Given the description of an element on the screen output the (x, y) to click on. 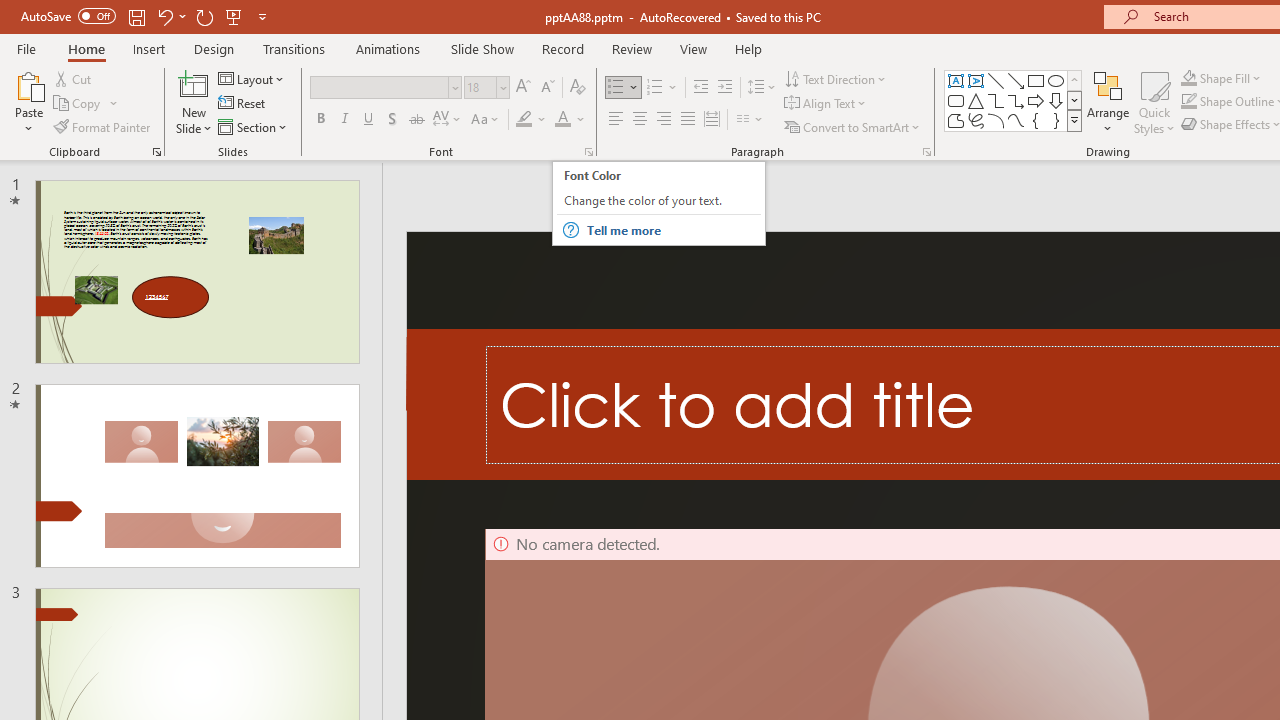
Shape Fill Aqua, Accent 2 (1188, 78)
